Given the description of an element on the screen output the (x, y) to click on. 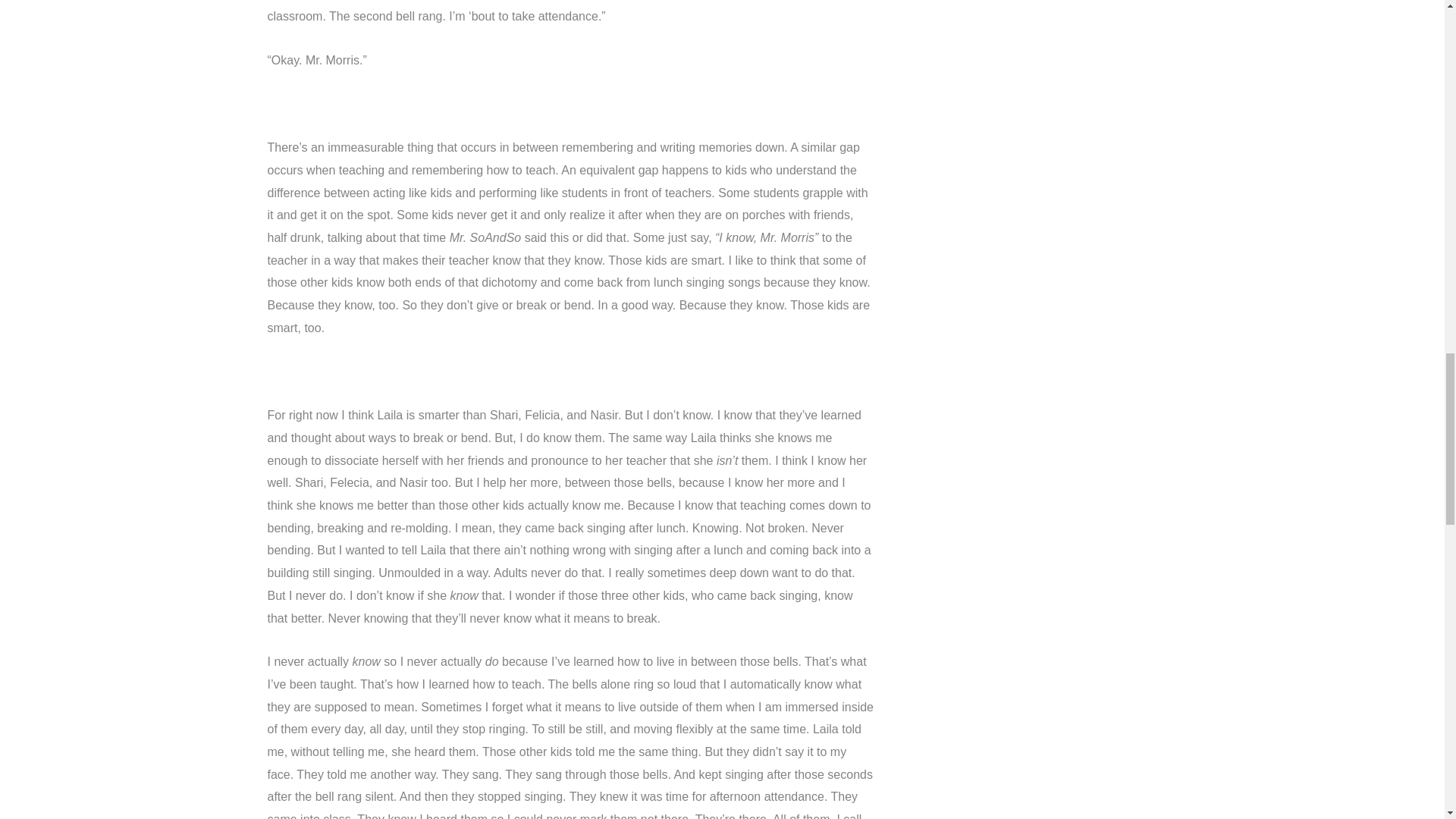
bell rang (585, 318)
